Given the description of an element on the screen output the (x, y) to click on. 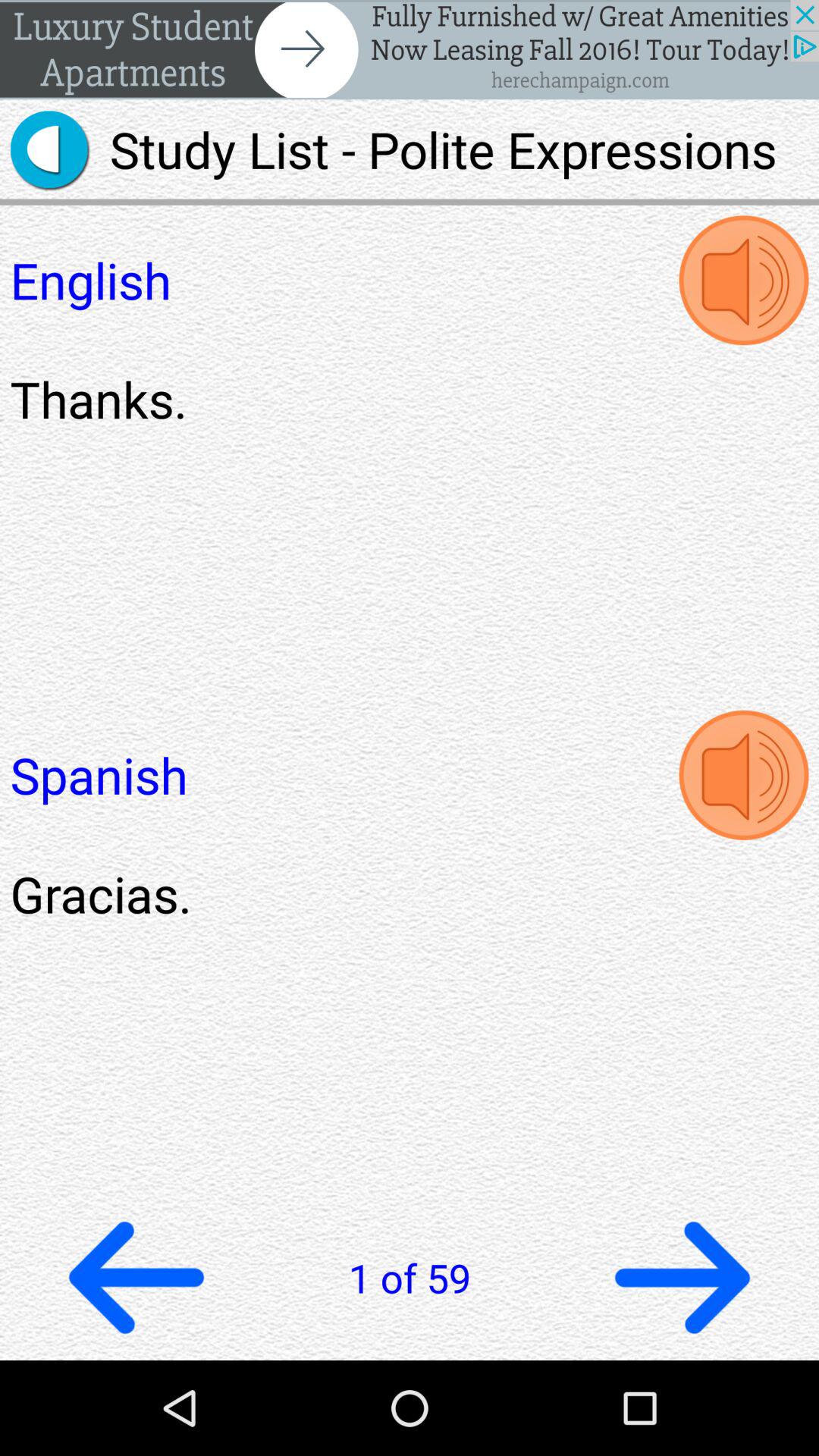
go back (136, 1277)
